Given the description of an element on the screen output the (x, y) to click on. 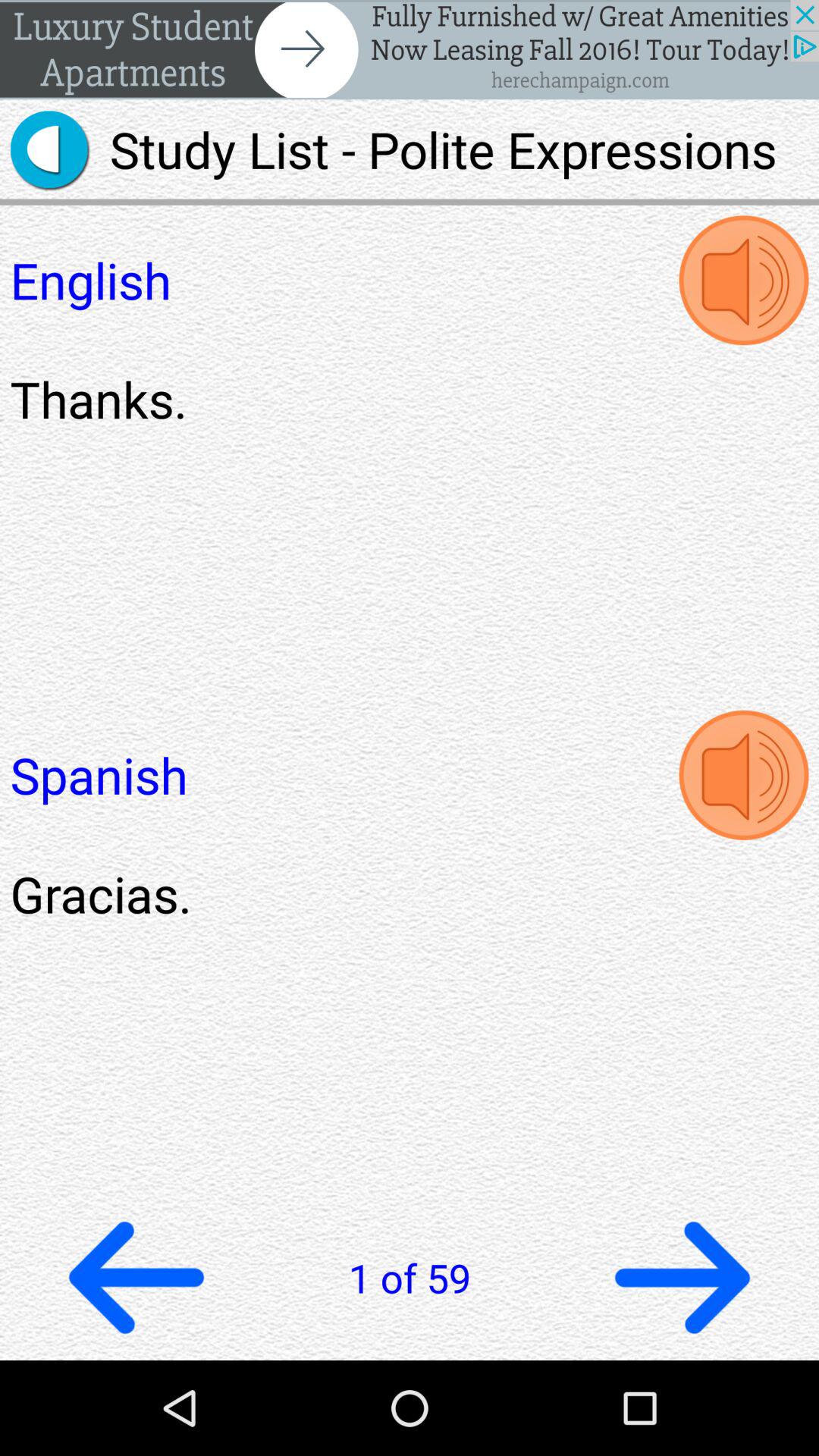
go back (136, 1277)
